Given the description of an element on the screen output the (x, y) to click on. 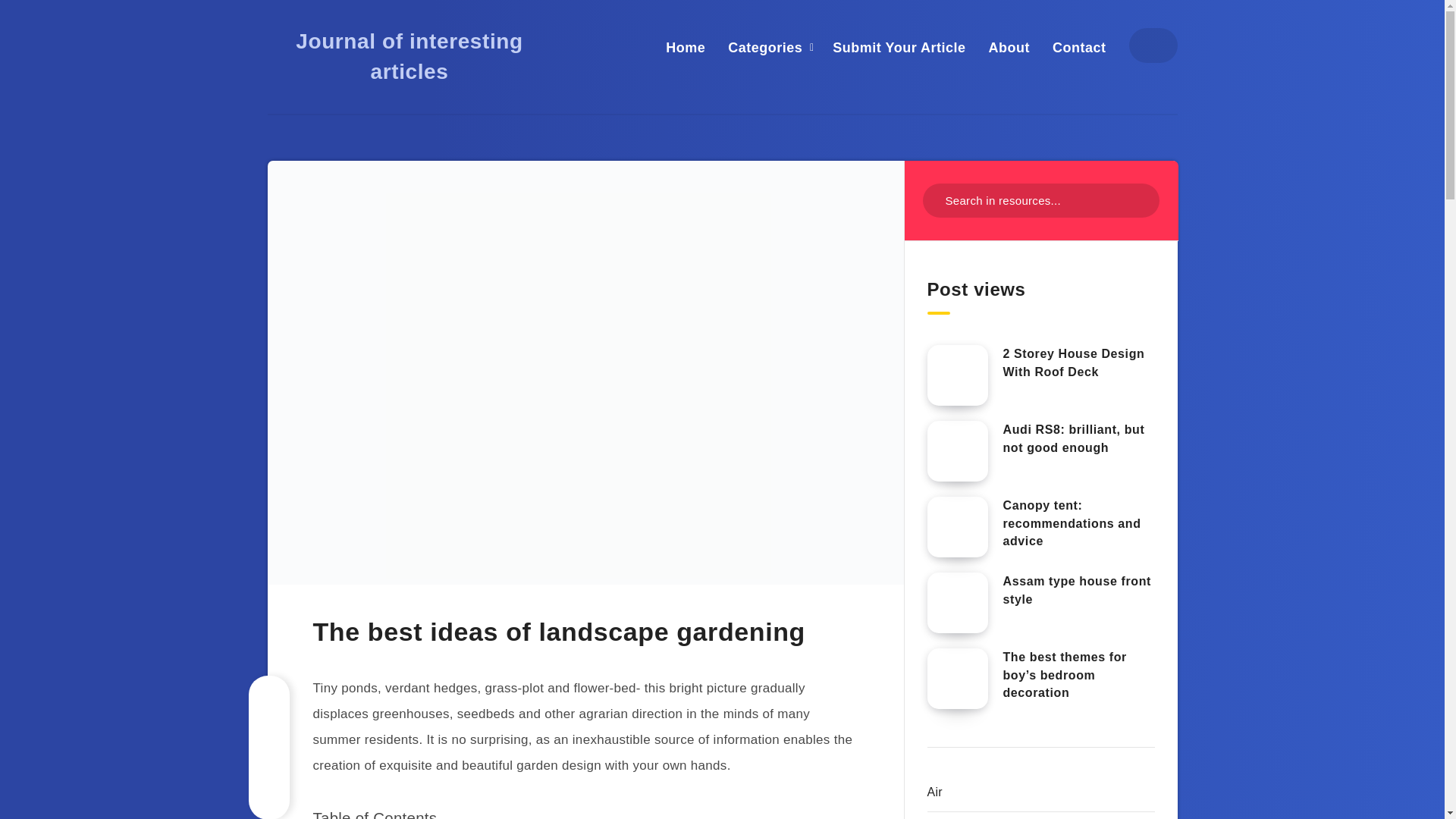
Categories (765, 47)
About (1008, 47)
Submit Your Article (898, 47)
Journal of interesting articles (408, 56)
Home (684, 47)
Contact (1079, 47)
